Given the description of an element on the screen output the (x, y) to click on. 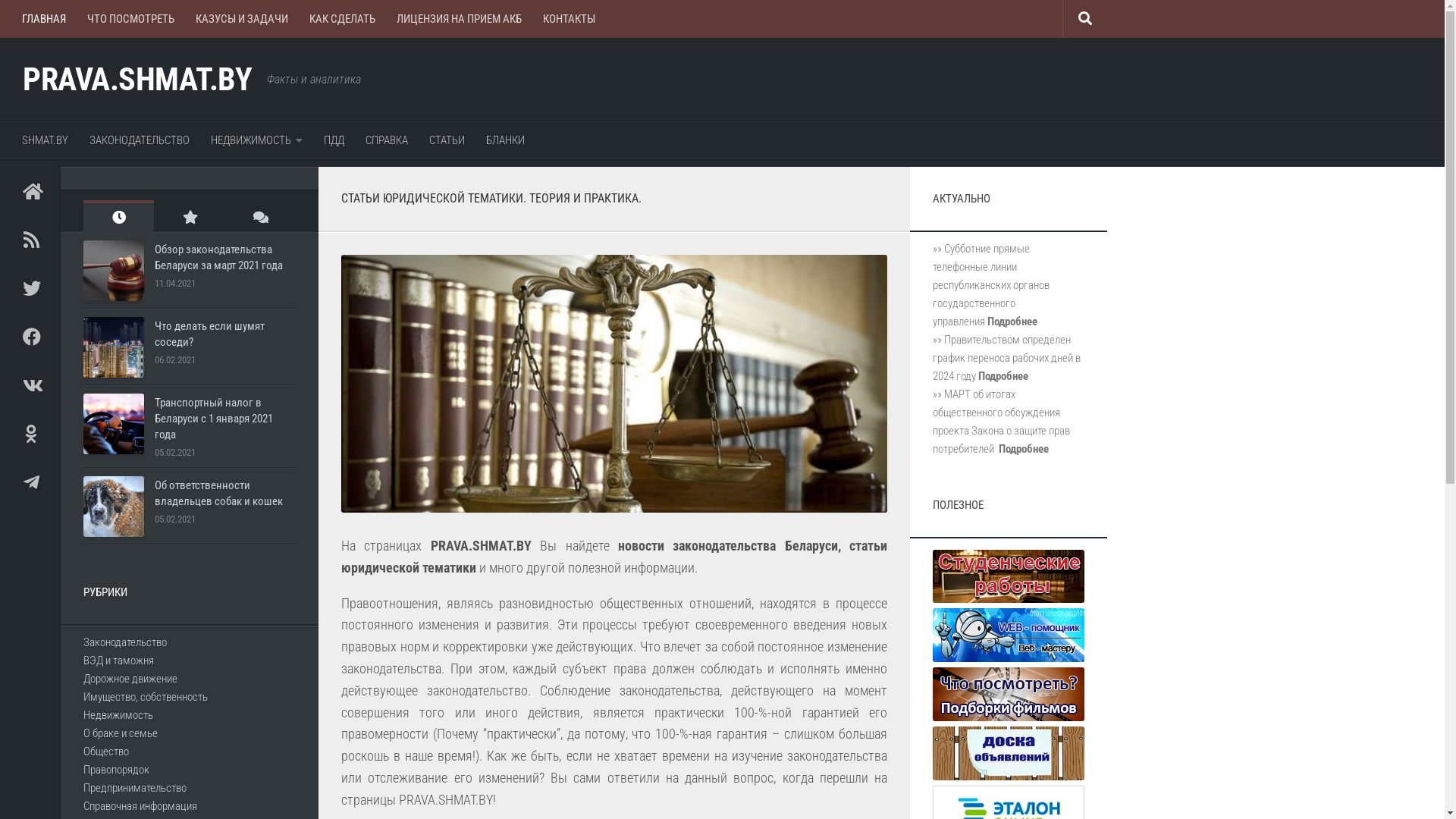
Facebook Element type: hover (30, 336)
PRAVA.SHMAT.BY Element type: text (136, 79)
VK Element type: hover (30, 384)
Popular Posts Element type: hover (188, 216)
Twitter Element type: hover (30, 287)
OK Element type: hover (30, 433)
Recent Comments Element type: hover (260, 216)
Recent Posts Element type: hover (118, 216)
Telegram Element type: hover (30, 482)
SHMAT.BY Element type: text (44, 140)
